Given the description of an element on the screen output the (x, y) to click on. 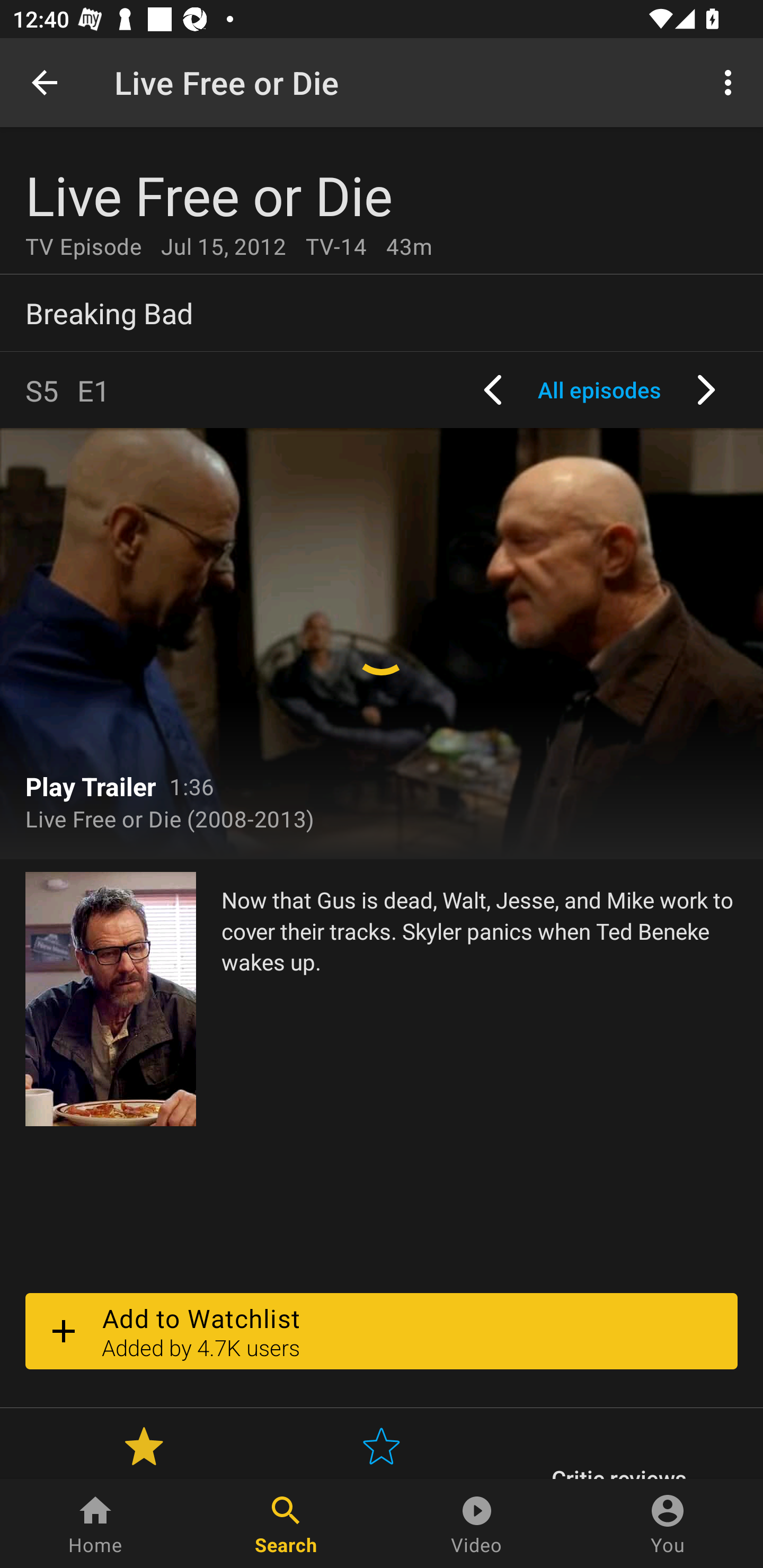
More options (731, 81)
Breaking Bad (381, 312)
Previous episode (492, 389)
All episodes (598, 389)
Next episode (705, 389)
Add to Watchlist Added by 4.7K users (381, 1331)
9.2 /10 (143, 1449)
Rate this (381, 1449)
Home (95, 1523)
Video (476, 1523)
You (667, 1523)
